Given the description of an element on the screen output the (x, y) to click on. 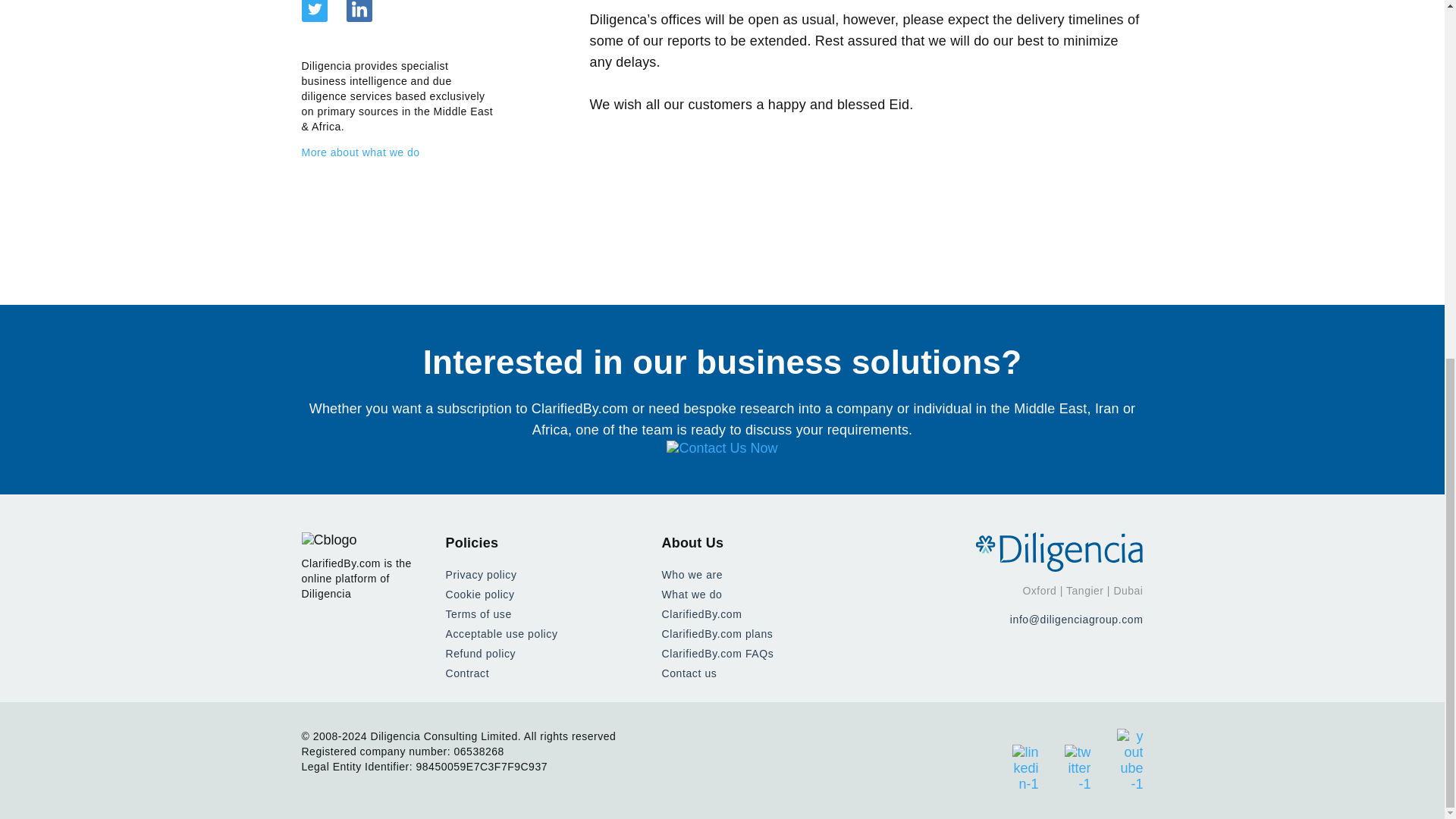
Diligencia (1058, 551)
Cblogo (328, 539)
